Given the description of an element on the screen output the (x, y) to click on. 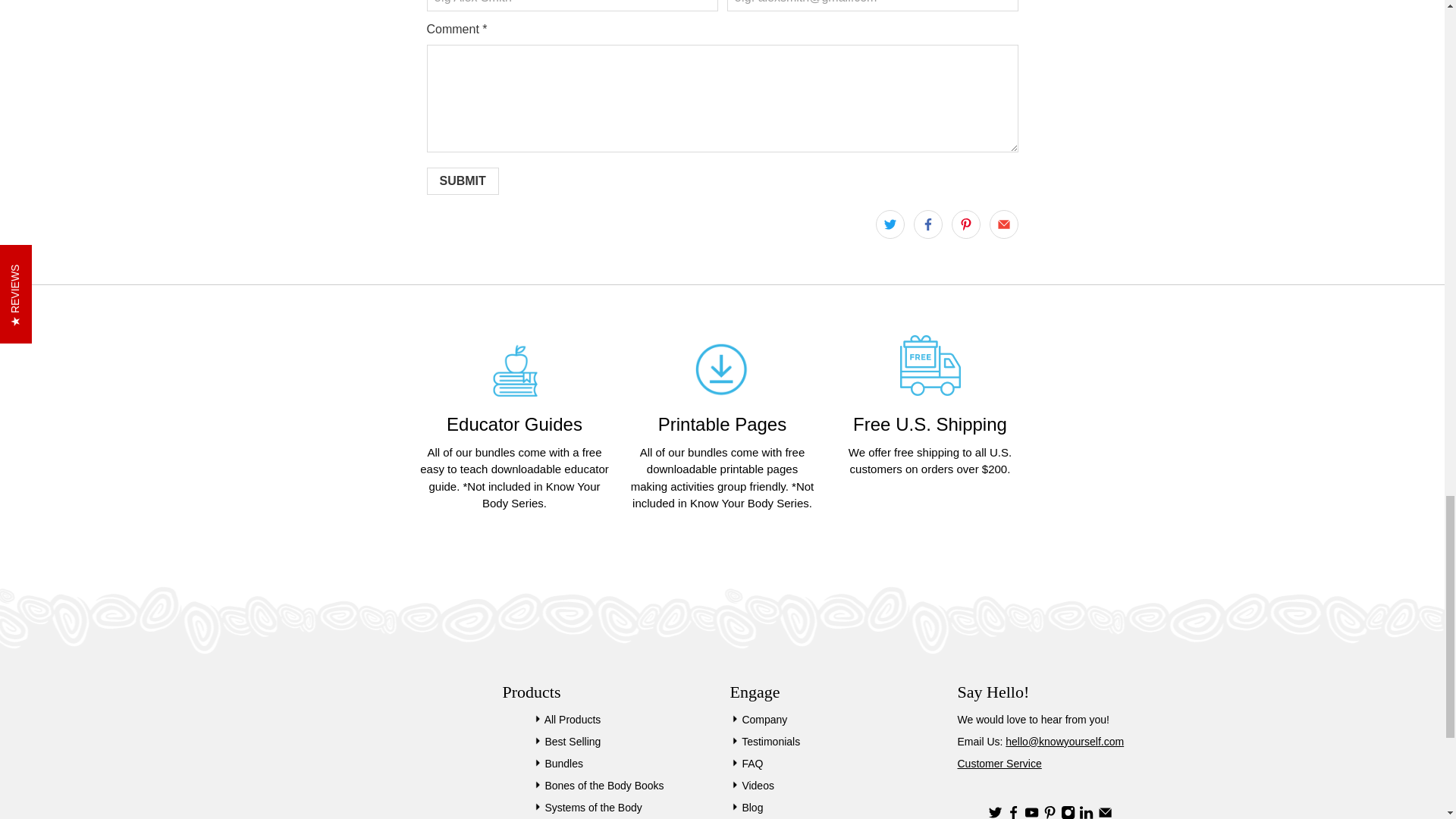
Know Yourself (338, 737)
Know Yourself on Twitter (994, 814)
Share this on Pinterest (964, 224)
Know Yourself on YouTube (1032, 814)
Know Yourself on Facebook (1013, 814)
Submit (461, 180)
Email this to a friend (1002, 224)
Share this on Facebook (927, 224)
Share this on Twitter (889, 224)
Know Yourself on Pinterest (1049, 814)
Know Yourself on Instagram (1068, 814)
